Given the description of an element on the screen output the (x, y) to click on. 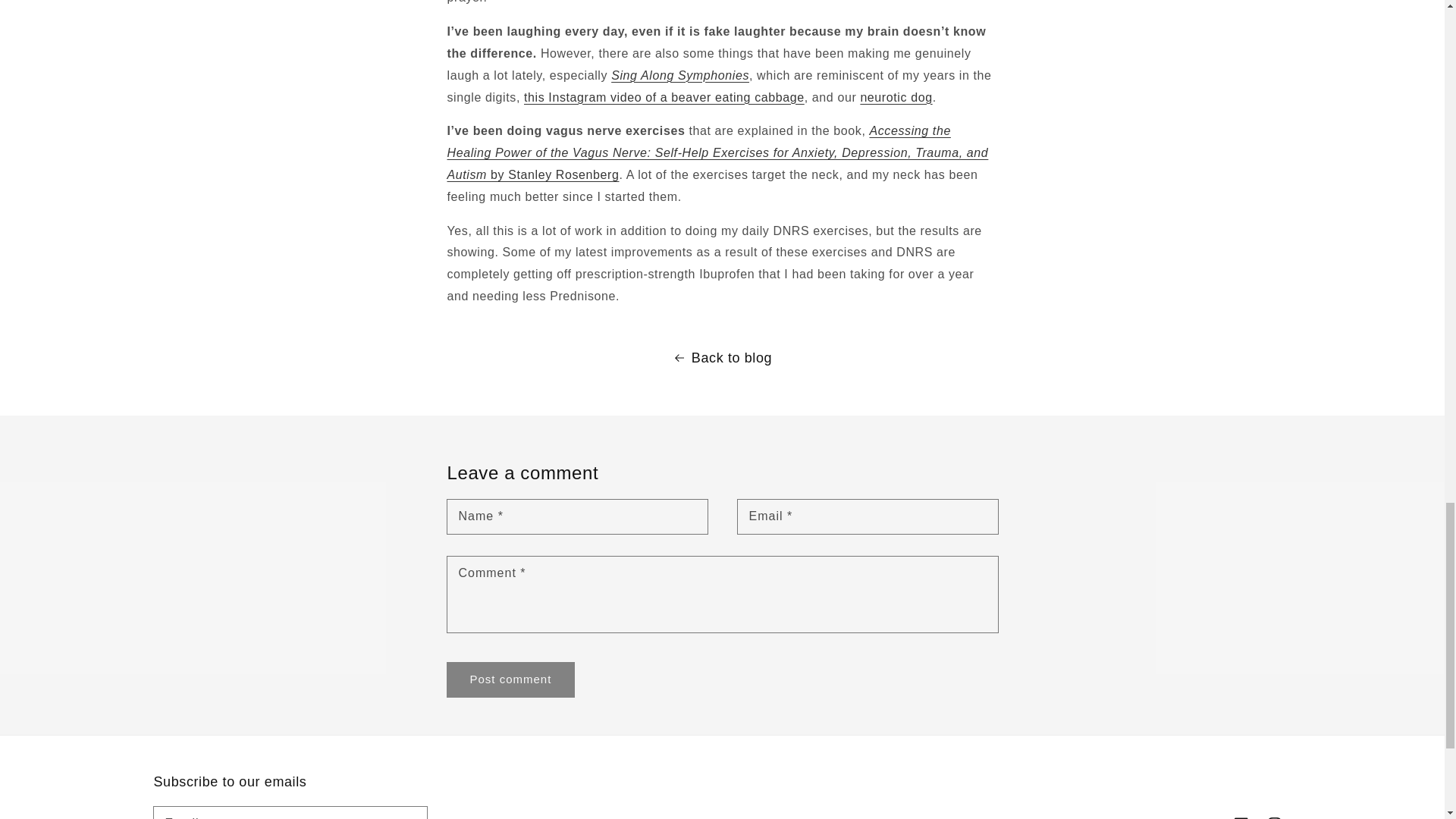
Facebook (1240, 813)
Instagram (1273, 813)
Twitter (1207, 813)
Post comment (510, 679)
neurotic dog (895, 97)
Post comment (510, 679)
Sing Along Symphonies (680, 74)
this Instagram video of a beaver eating cabbage (664, 97)
